Given the description of an element on the screen output the (x, y) to click on. 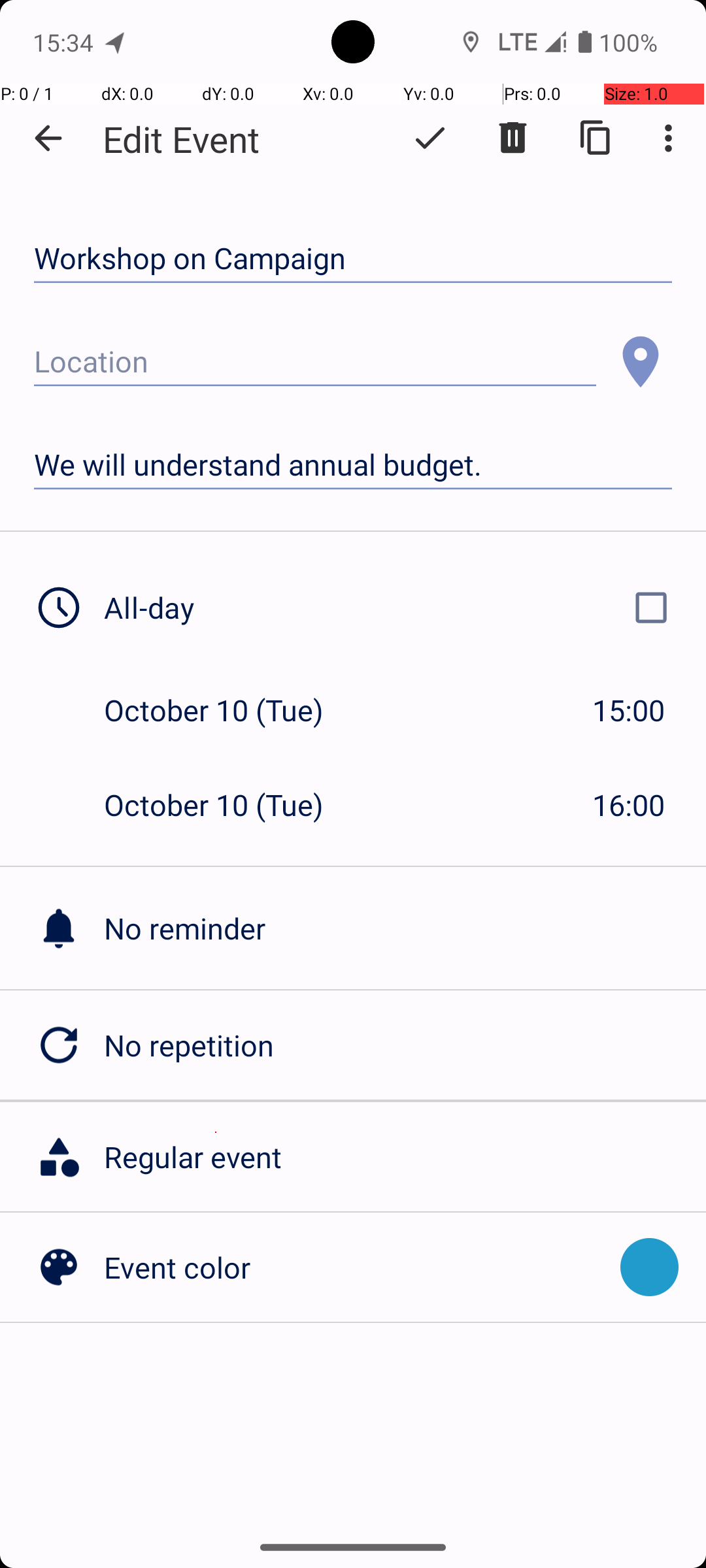
We will understand annual budget. Element type: android.widget.EditText (352, 465)
October 10 (Tue) Element type: android.widget.TextView (227, 709)
